Given the description of an element on the screen output the (x, y) to click on. 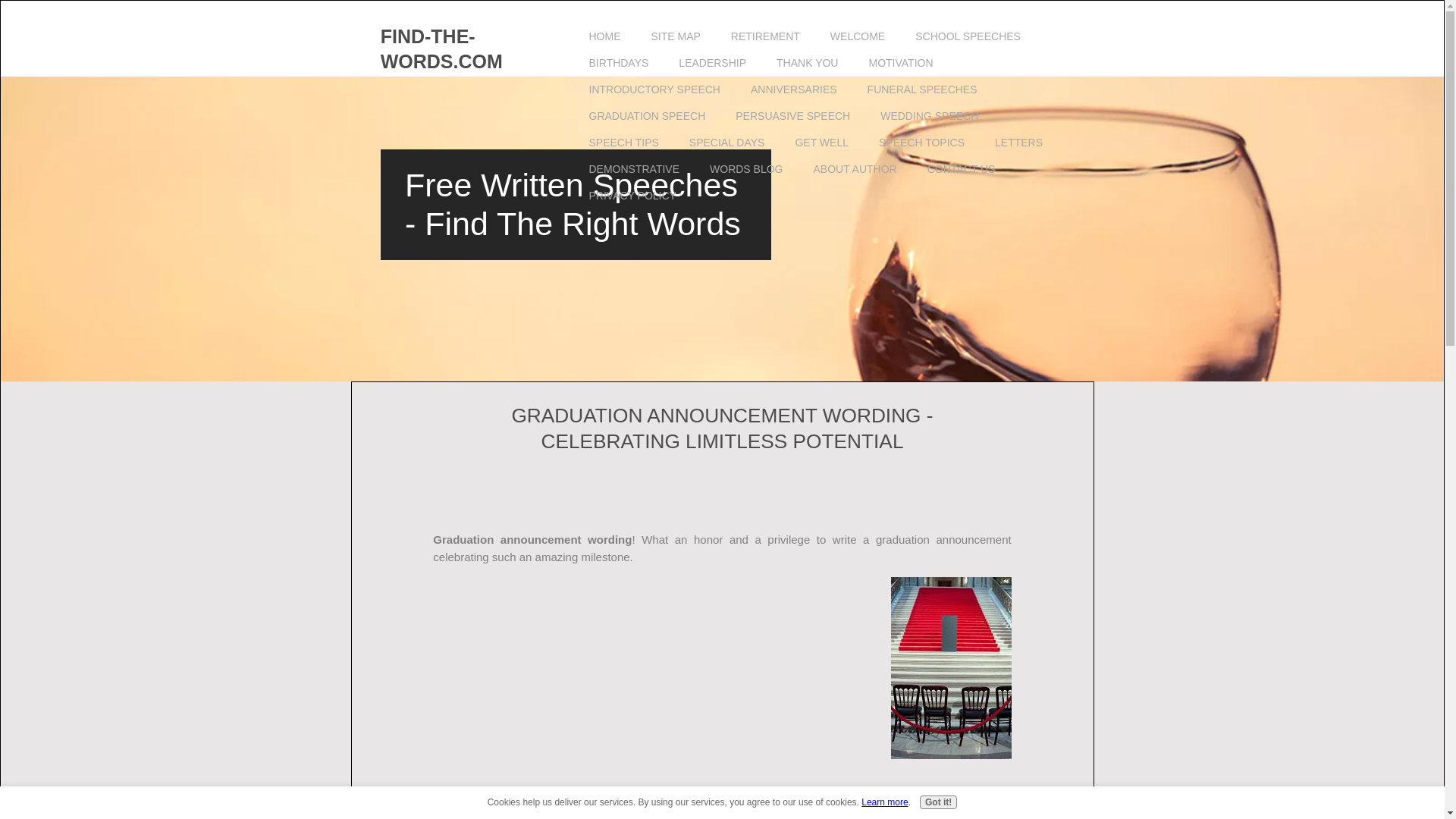
LEADERSHIP (712, 62)
WORDS BLOG (745, 169)
MOTIVATION (900, 62)
SPECIAL DAYS (727, 142)
FIND-THE-WORDS.COM (441, 48)
THANK YOU (807, 62)
WEDDING SPEECH (928, 116)
HOME (603, 36)
SPEECH TOPICS (921, 142)
INTRODUCTORY SPEECH (654, 89)
